Given the description of an element on the screen output the (x, y) to click on. 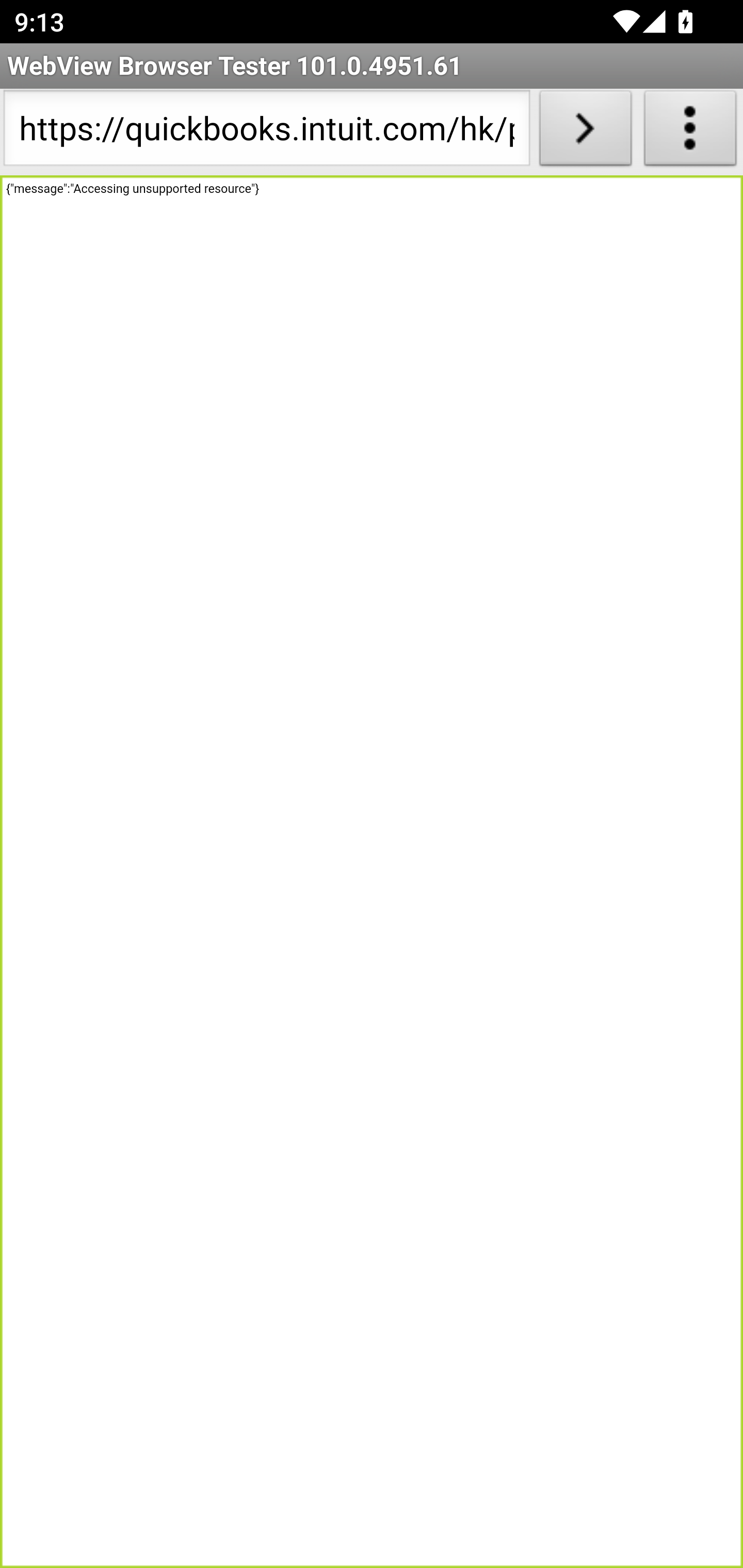
Load URL (585, 132)
About WebView (690, 132)
